Given the description of an element on the screen output the (x, y) to click on. 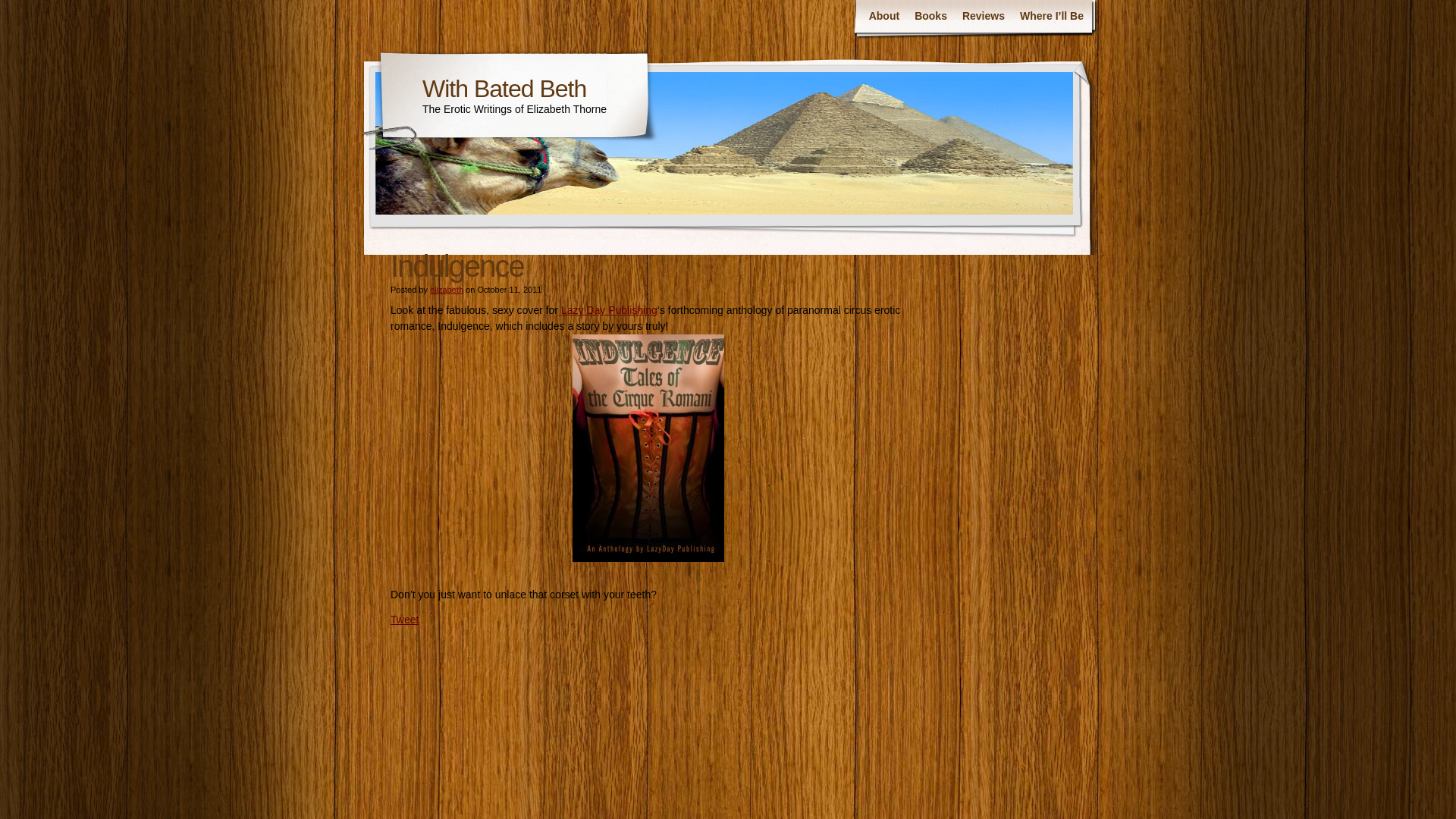
Books (931, 16)
Lazy Day Publishing (609, 309)
With Bated Beth (504, 87)
Tweet (404, 619)
Reviews (983, 16)
About (884, 16)
elizabeth (446, 289)
With Bated Beth (504, 87)
Posts by elizabeth (446, 289)
